Given the description of an element on the screen output the (x, y) to click on. 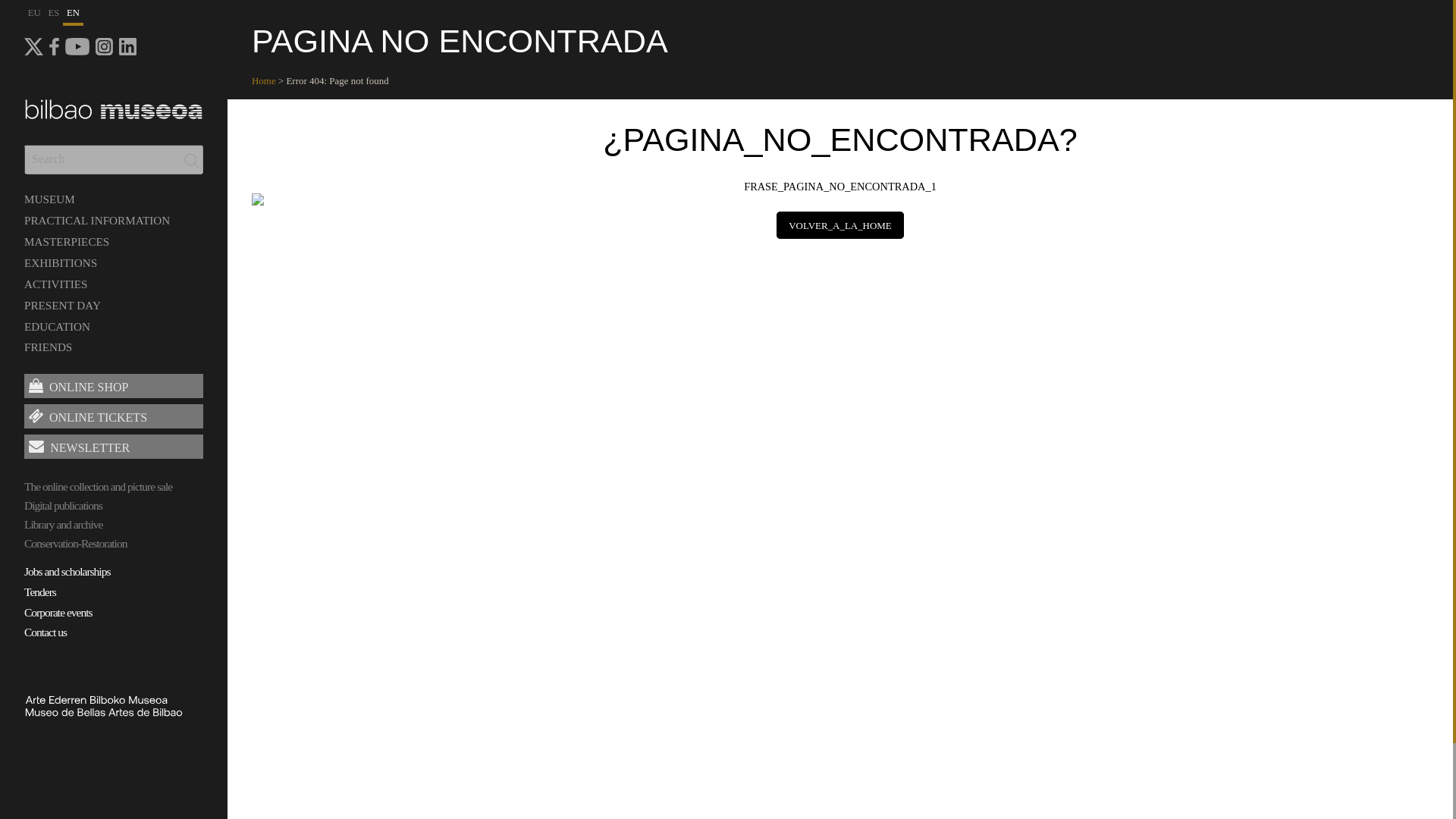
ACTIVITIES (55, 283)
MASTERPIECES (66, 241)
Conservation-Restoration (113, 544)
NEWSLETTER (113, 446)
EXHIBITIONS (60, 262)
ONLINE TICKETS (113, 416)
The online collection and picture sale (113, 486)
Ir a Linkedin en ventana nueva (127, 46)
Jobs and scholarships (113, 573)
Ir a Instagram en ventana nueva (104, 46)
PRACTICAL INFORMATION (97, 219)
Ir a google play en ventana nueva (76, 46)
MUSEUM (49, 198)
Tenders (113, 593)
Digital publications (113, 505)
